Given the description of an element on the screen output the (x, y) to click on. 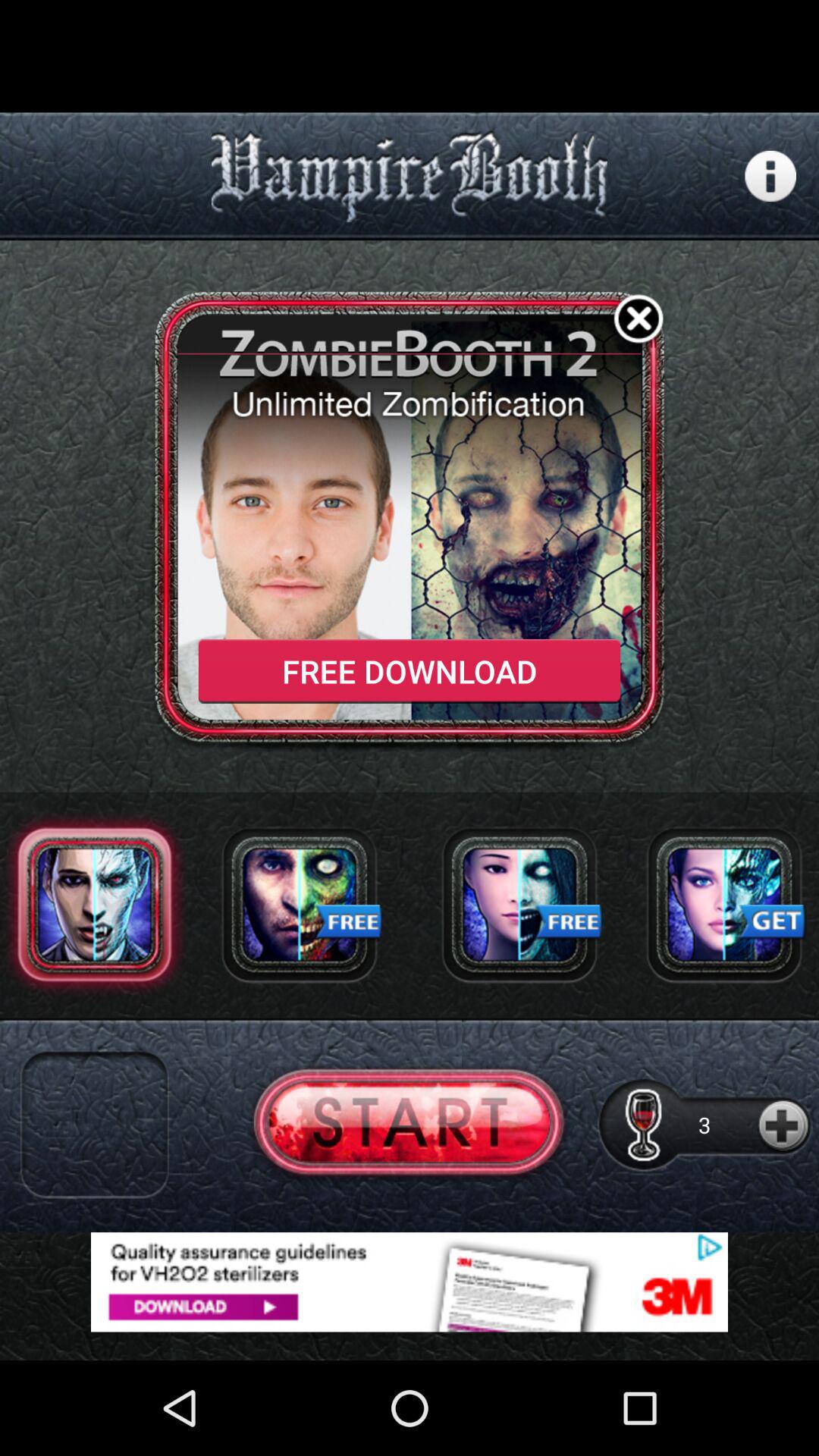
add close button (638, 321)
